Given the description of an element on the screen output the (x, y) to click on. 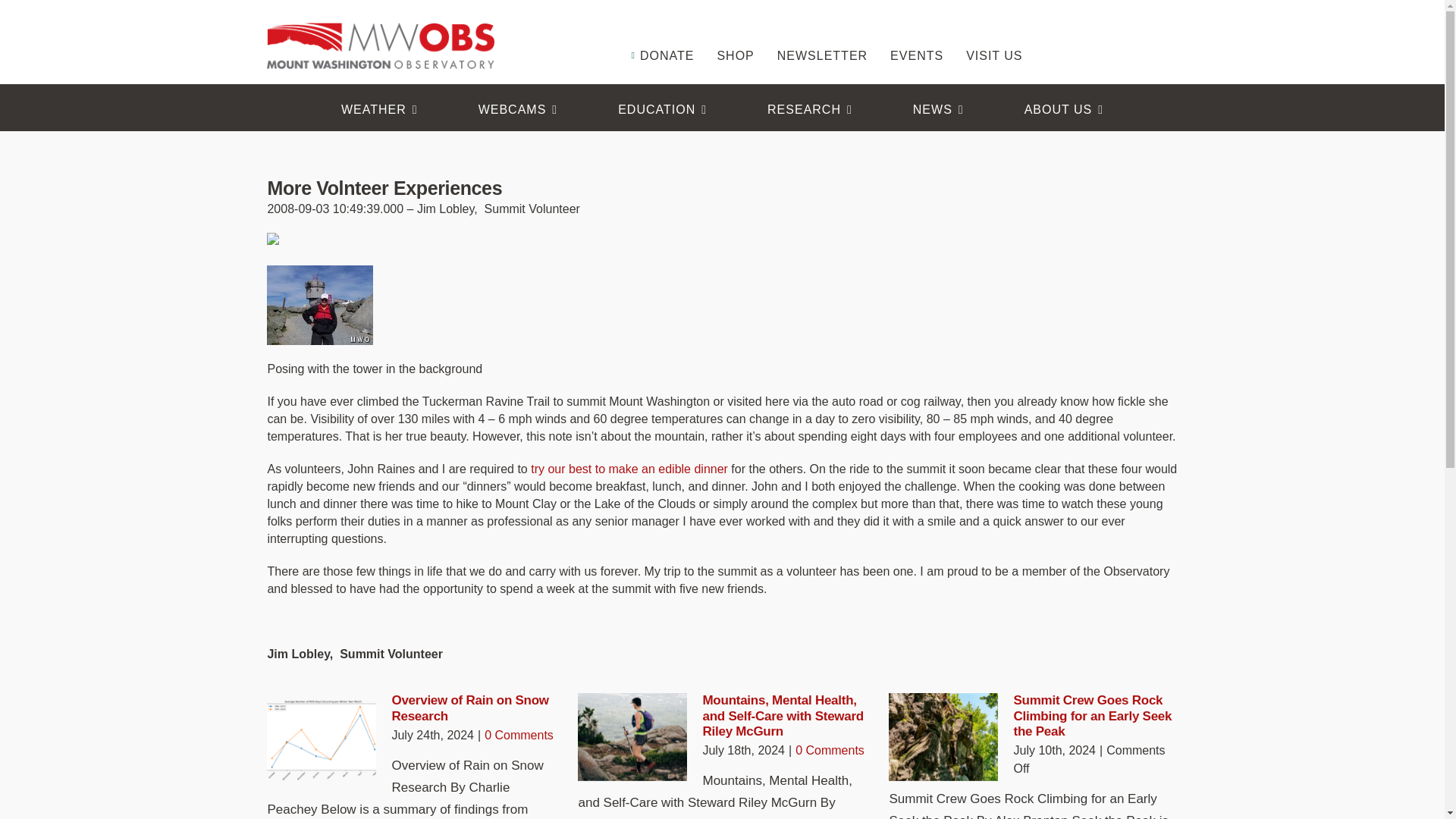
SHOP (735, 33)
NEWSLETTER (822, 33)
WEATHER (379, 109)
DONATE (660, 33)
EDUCATION (662, 109)
EVENTS (916, 33)
WEBCAMS (518, 109)
VISIT US (994, 33)
